Given the description of an element on the screen output the (x, y) to click on. 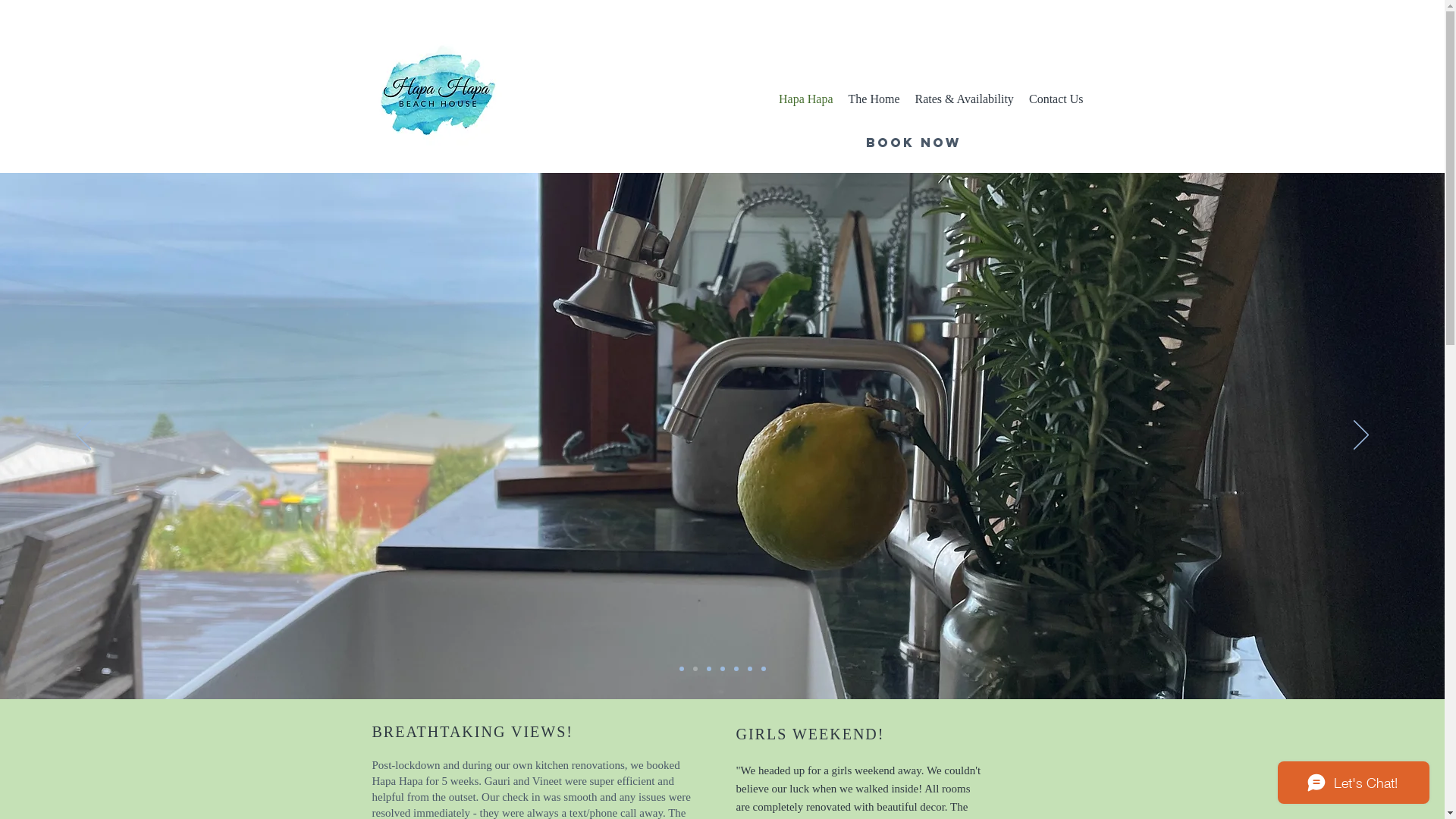
Contact Us Element type: text (1055, 98)
Book Now Element type: text (913, 142)
Rates & Availability Element type: text (963, 98)
The Home Element type: text (873, 98)
Hapa Hapa Element type: text (805, 98)
